Given the description of an element on the screen output the (x, y) to click on. 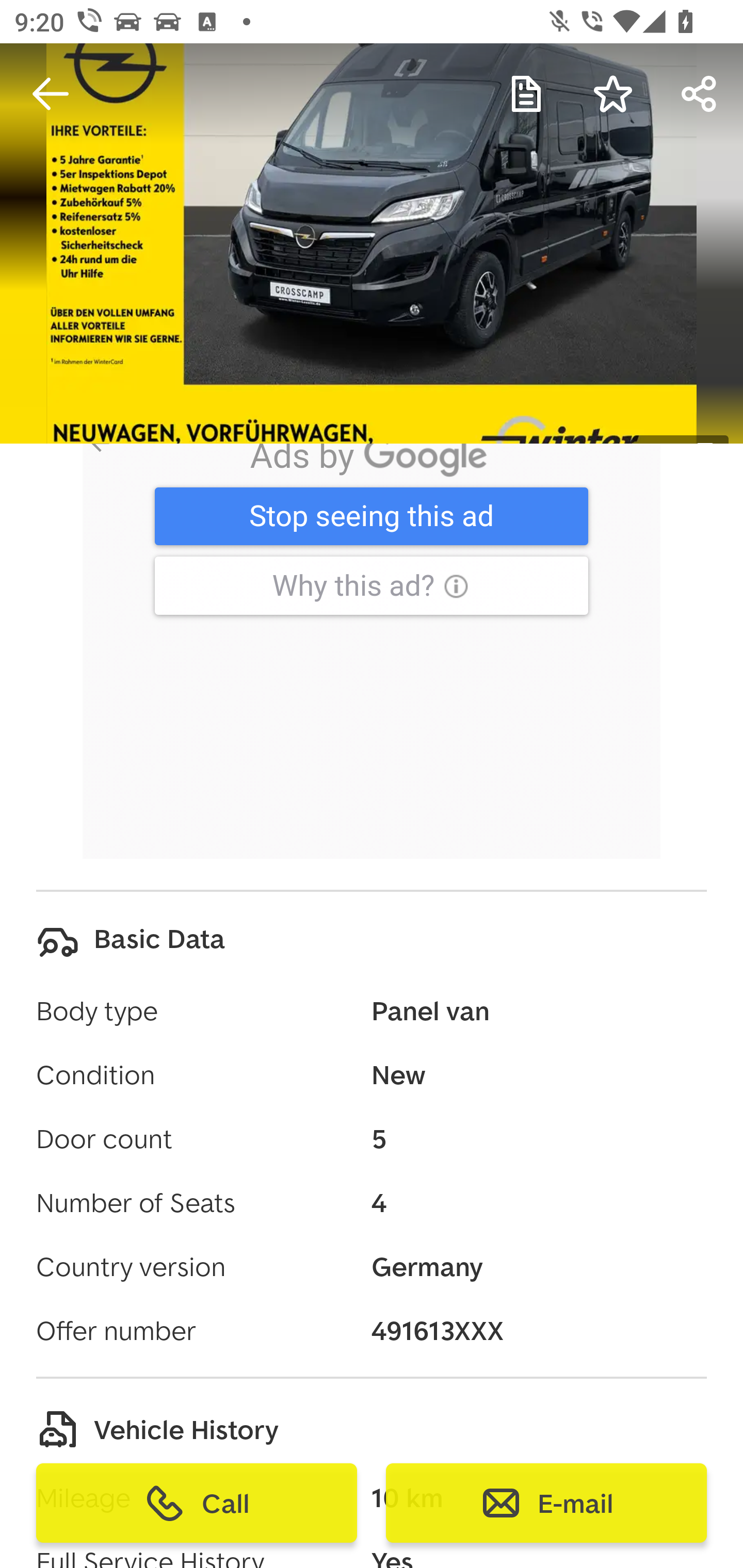
Navigate up (50, 93)
My Notes (525, 93)
Save (612, 93)
Forward (699, 93)
用貸款供車更free 免抵押免全 保 用貸款供車更free 免抵押免全 保 (366, 524)
Call (196, 1502)
E-mail (545, 1502)
